Given the description of an element on the screen output the (x, y) to click on. 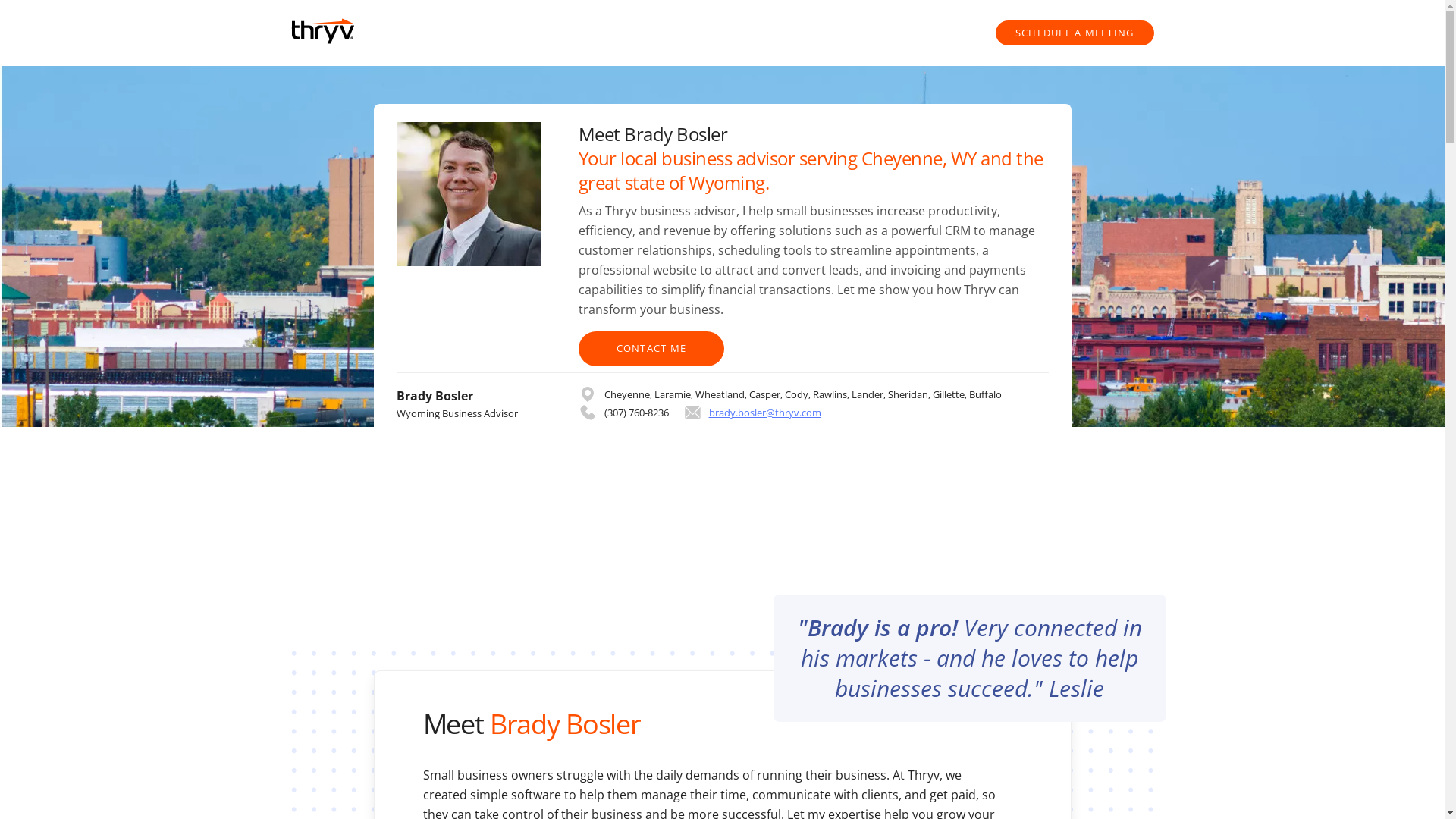
SCHEDULE A MEETING
 LINK OPENS IN NEW TAB Element type: text (1074, 33)
brady.bosler@thryv.com Element type: text (752, 412)
Thryv Element type: text (922, 774)
CONTACT ME Element type: text (650, 348)
Brady Bosler Element type: text (564, 723)
Link to Thryv Website Element type: text (322, 32)
